Given the description of an element on the screen output the (x, y) to click on. 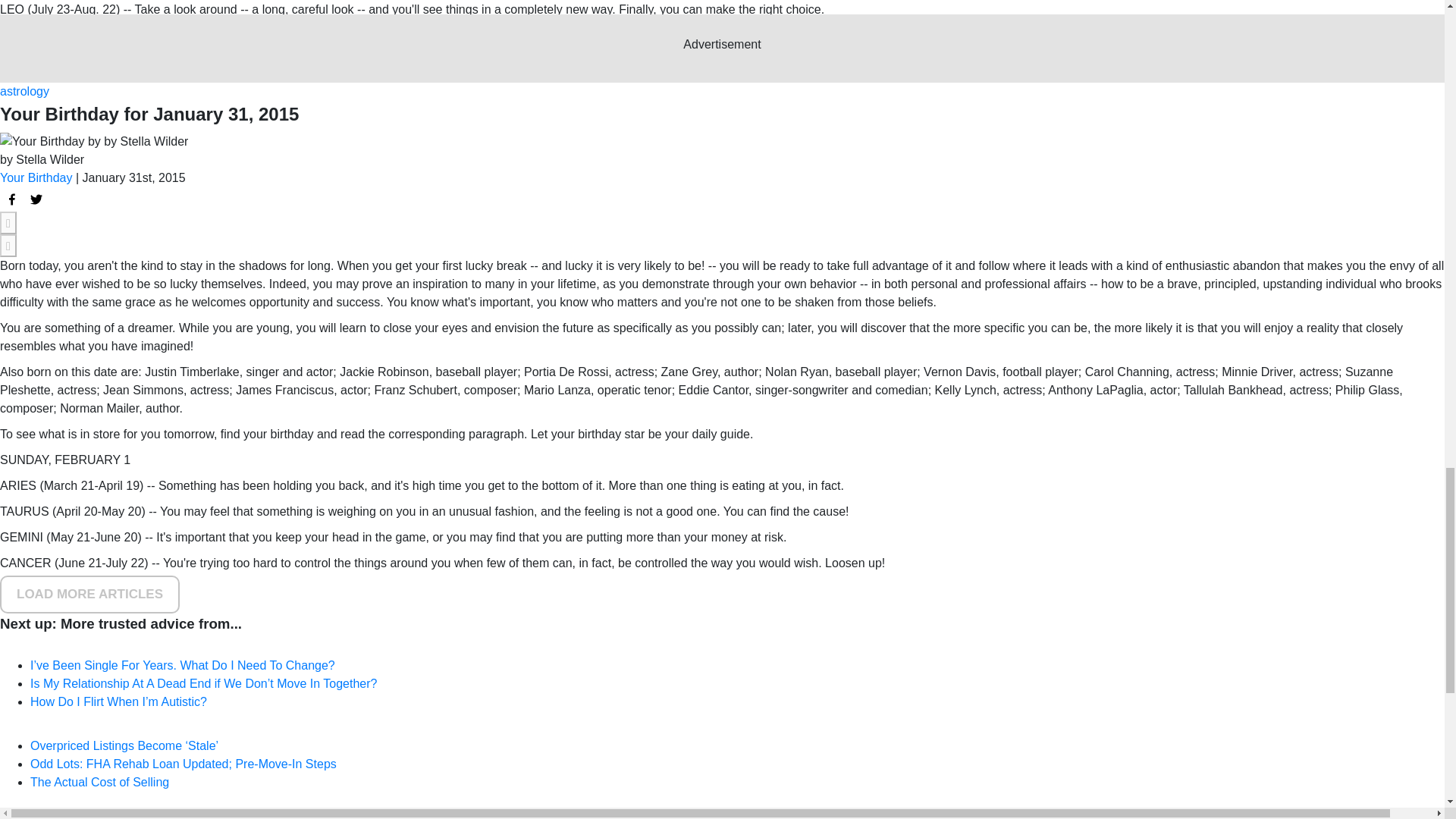
The Actual Cost of Selling (99, 781)
LOAD MORE ARTICLES (89, 594)
Your Birthday for January 31, 2015 (12, 199)
Odd Lots: FHA Rehab Loan Updated; Pre-Move-In Steps (183, 763)
astrology (24, 91)
Your Birthday (35, 177)
